Given the description of an element on the screen output the (x, y) to click on. 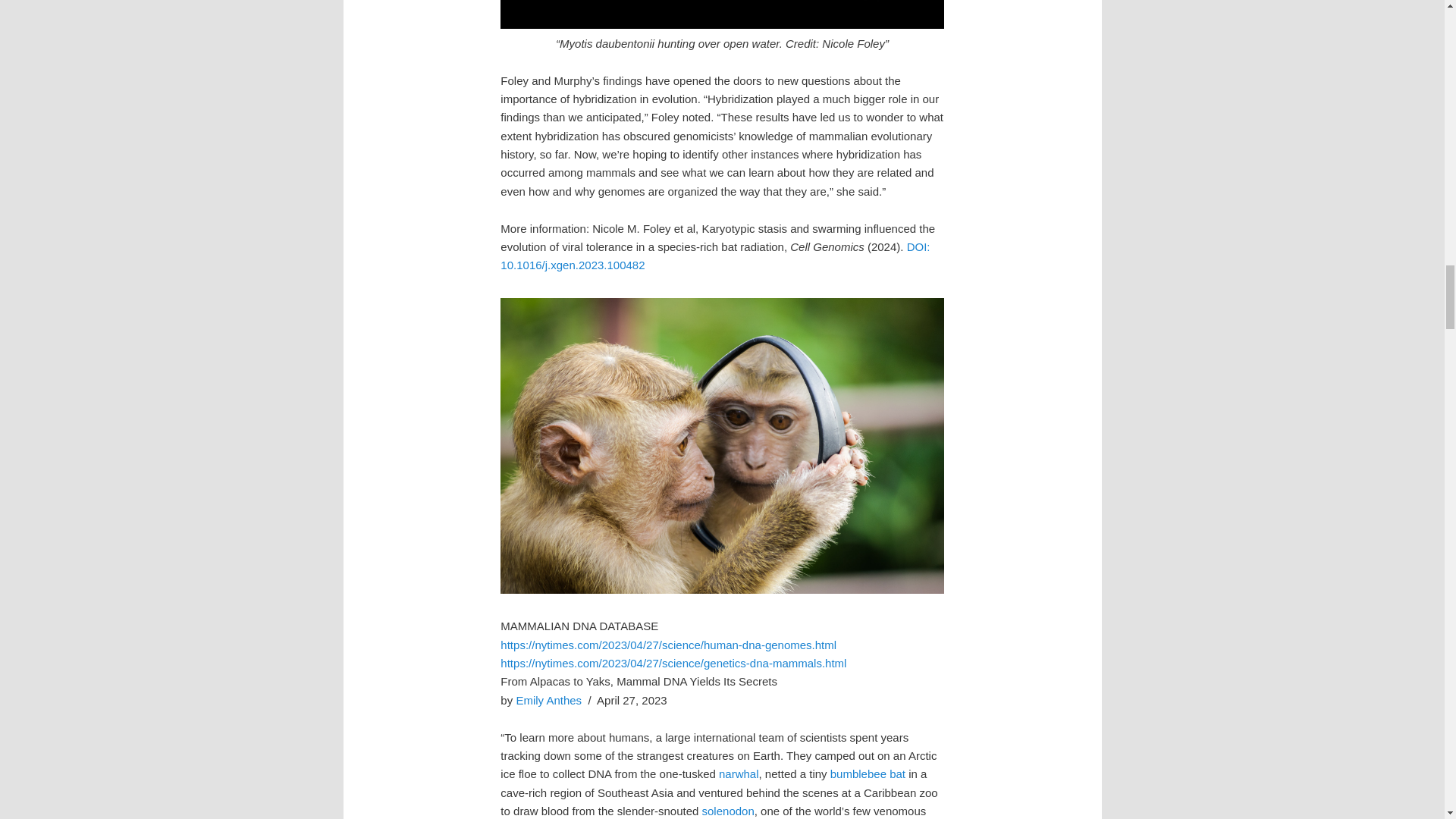
narwhal (738, 773)
solenodon (727, 810)
Emily Anthes (547, 699)
bumblebee bat (867, 773)
